Given the description of an element on the screen output the (x, y) to click on. 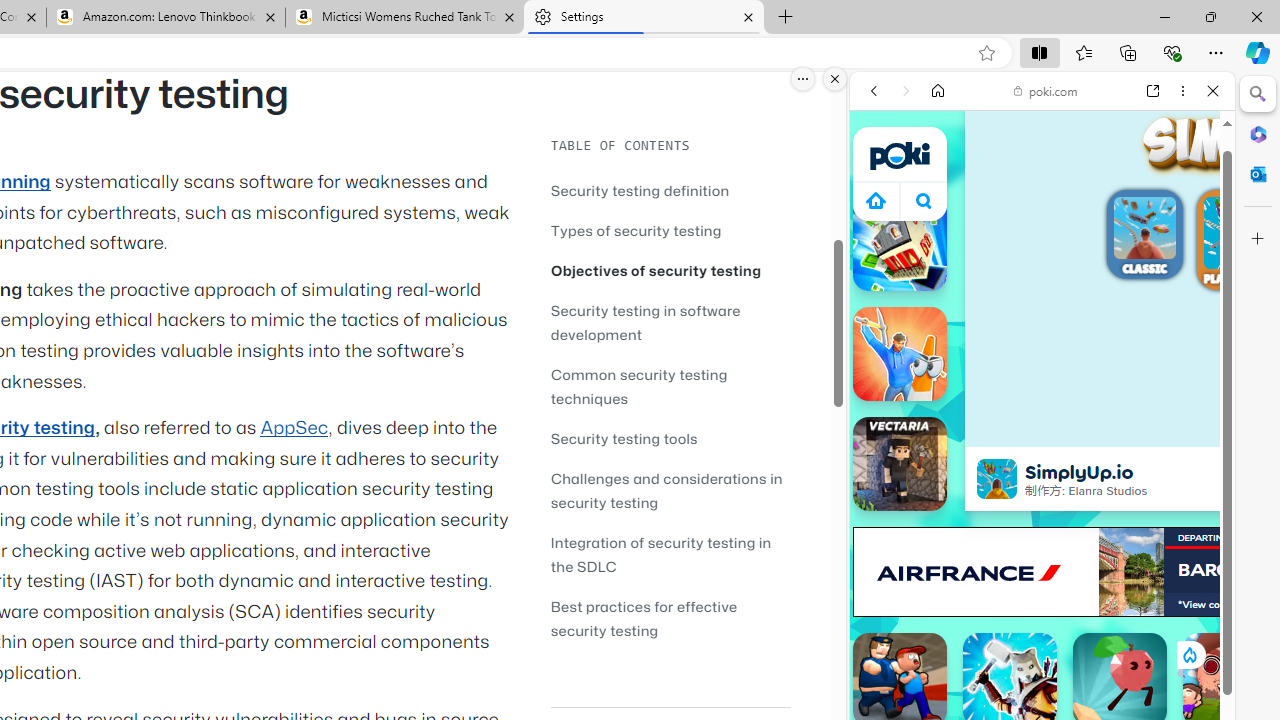
Objectives of security testing (670, 269)
Integration of security testing in the SDLC (670, 553)
SimplyUp.io (996, 478)
Security testing definition (670, 190)
poki.com (1046, 90)
Challenges and considerations in security testing (670, 489)
Global web icon (888, 288)
Security testing in software development (645, 321)
Common security testing techniques (670, 386)
